Given the description of an element on the screen output the (x, y) to click on. 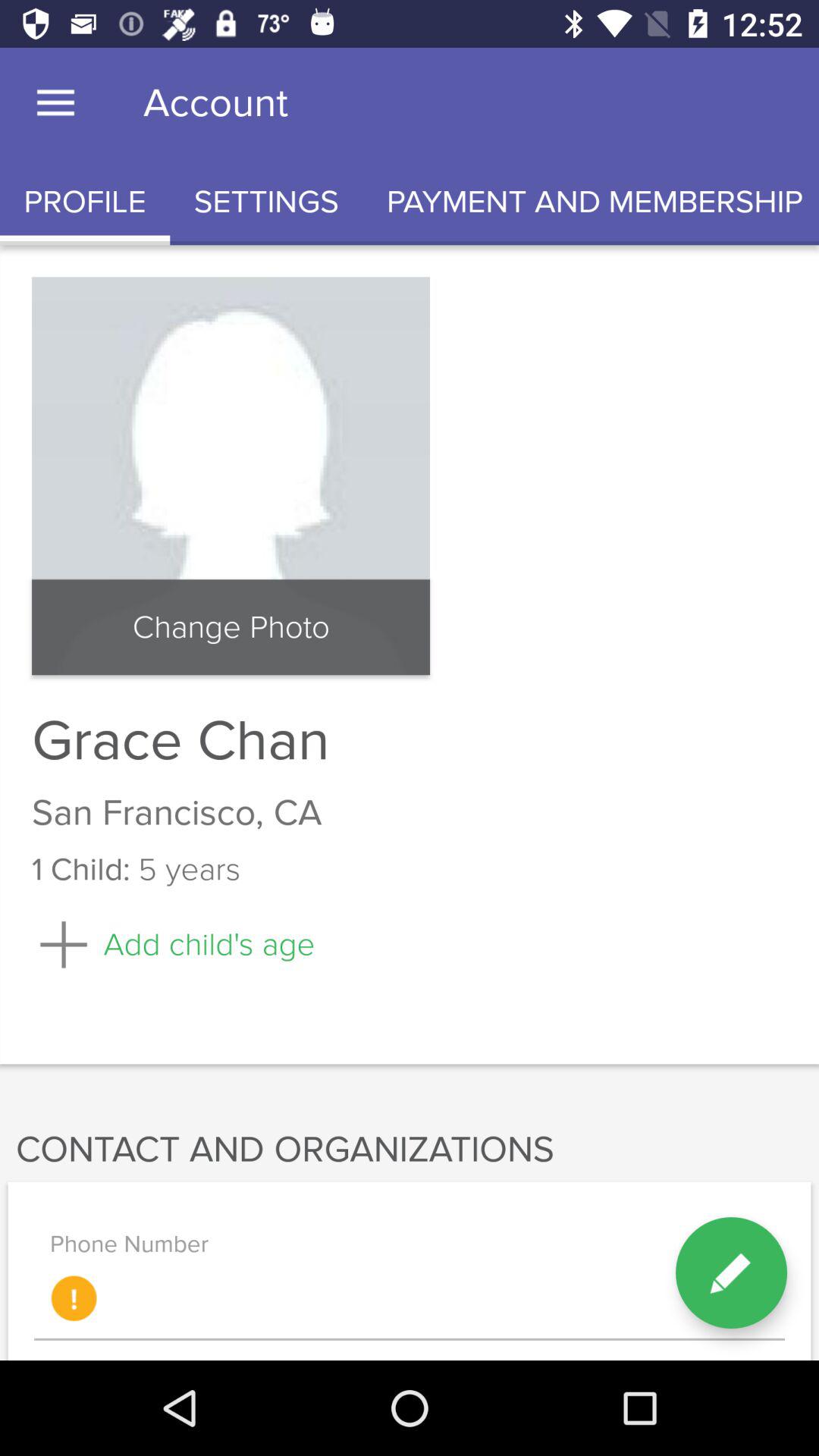
choose the item below the account item (266, 202)
